Given the description of an element on the screen output the (x, y) to click on. 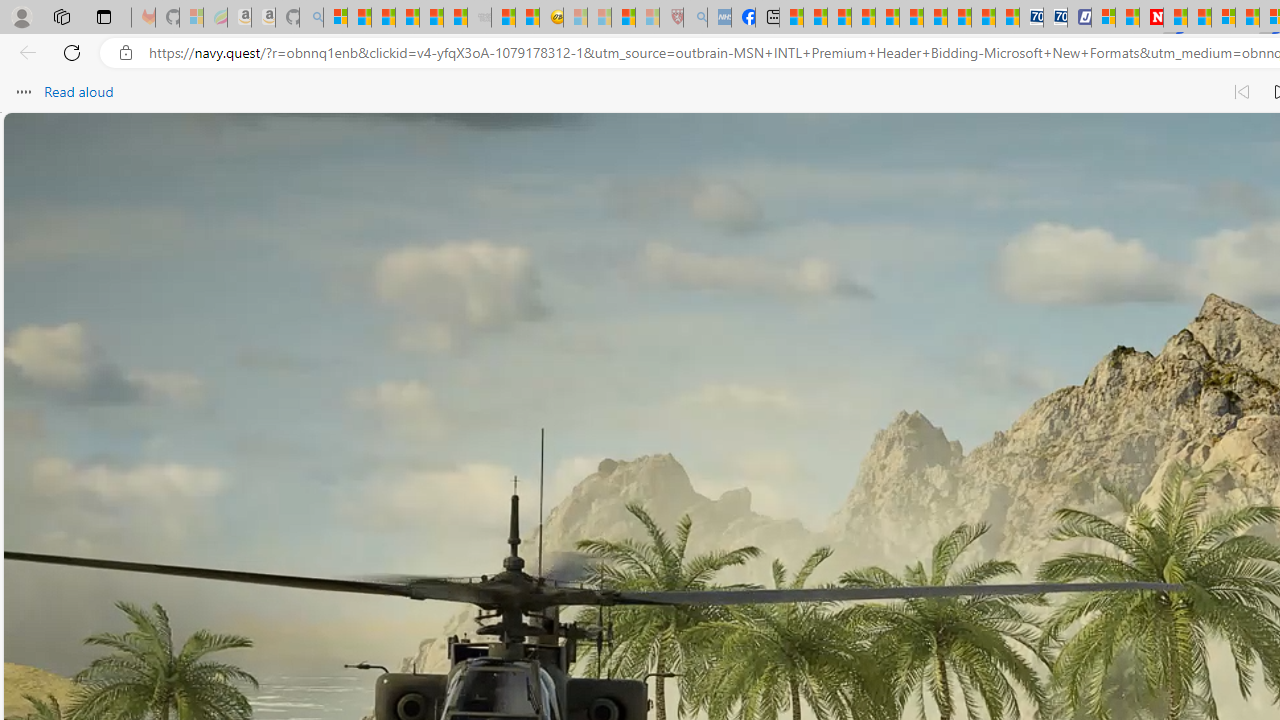
14 Common Myths Debunked By Scientific Facts (1198, 17)
Combat Siege - Sleeping (479, 17)
Cheap Car Rentals - Save70.com (1031, 17)
Science - MSN (622, 17)
